Given the description of an element on the screen output the (x, y) to click on. 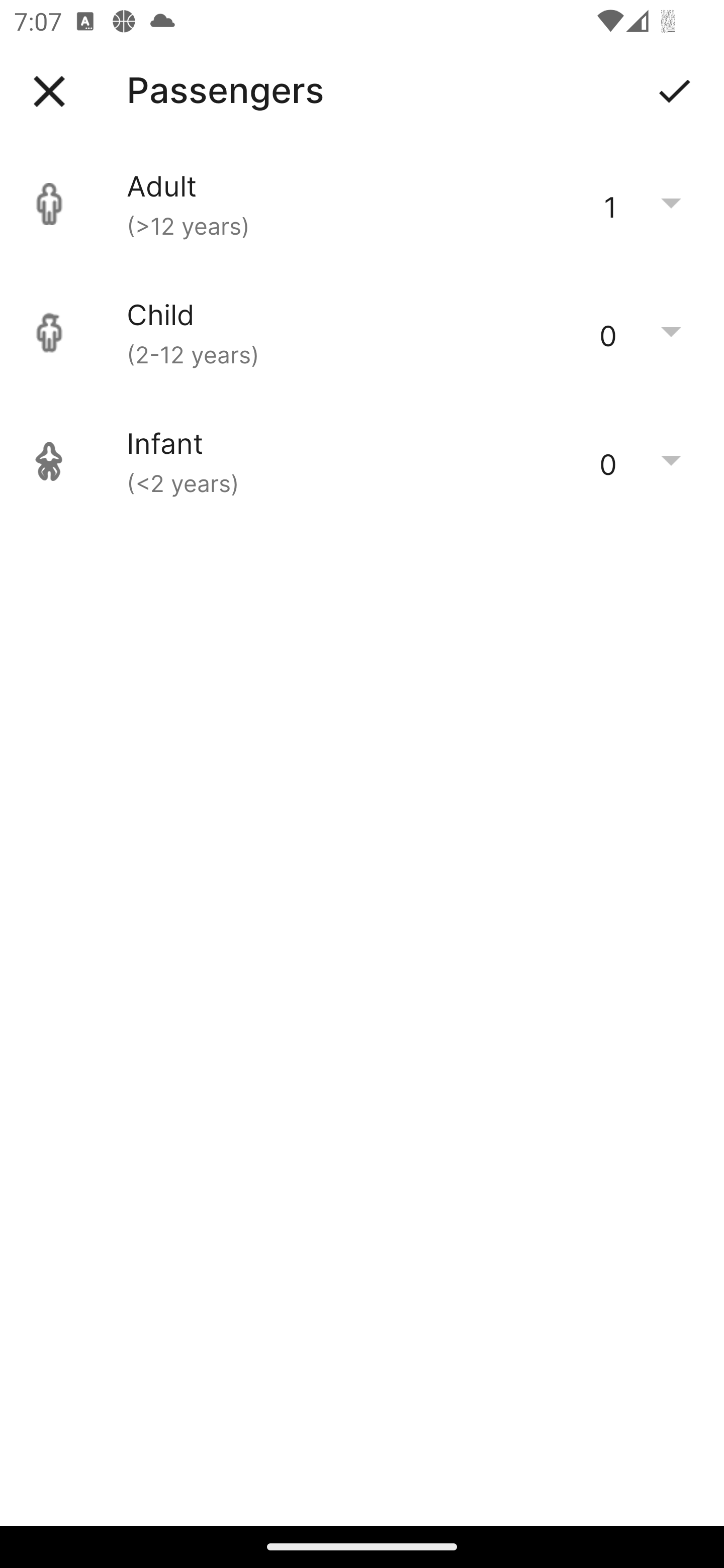
Adult (>12 years) 1 (362, 204)
Child (2-12 years) 0 (362, 332)
Infant (<2 years) 0 (362, 461)
